Given the description of an element on the screen output the (x, y) to click on. 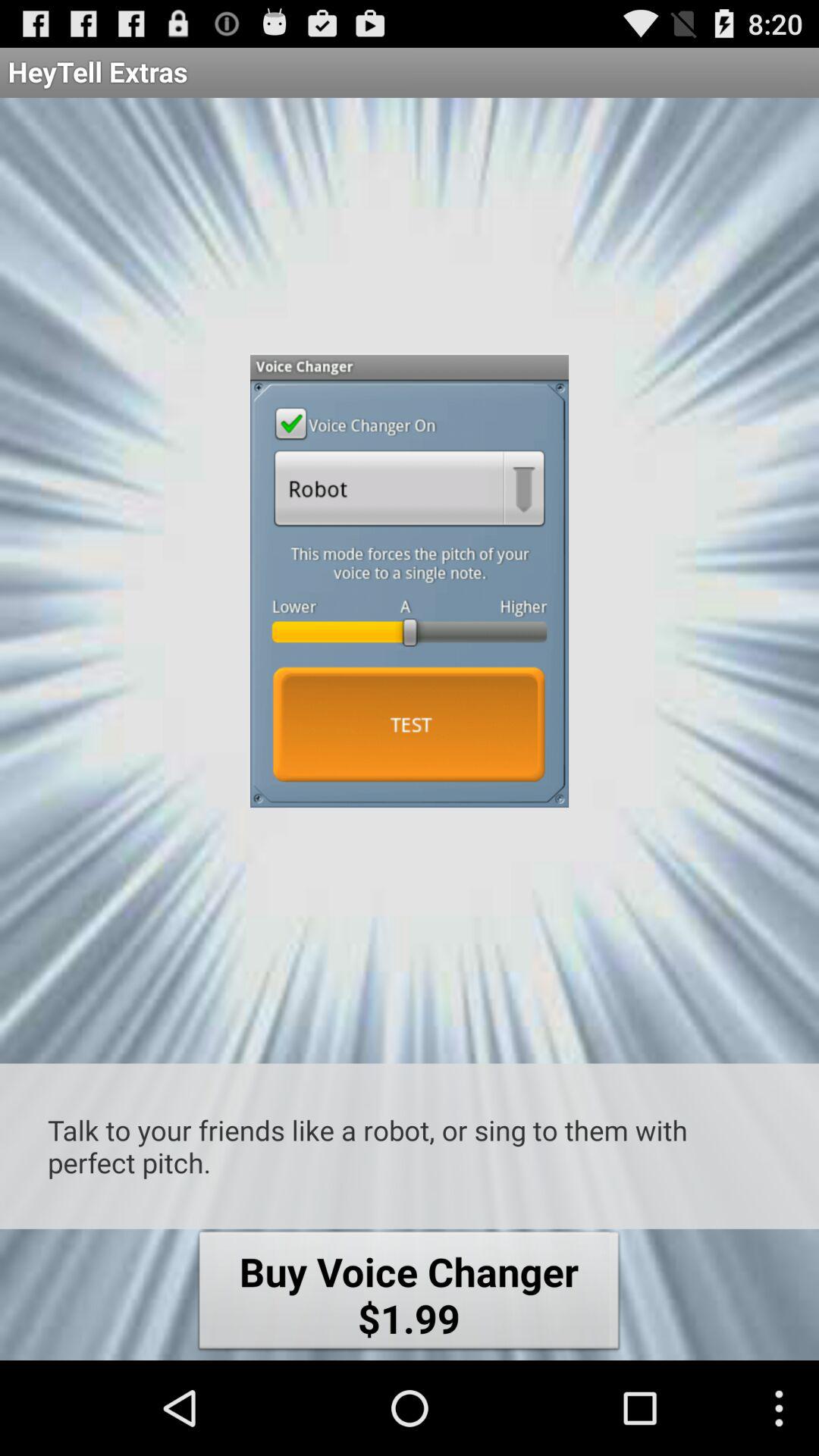
turn on the item below talk to your (408, 1294)
